Given the description of an element on the screen output the (x, y) to click on. 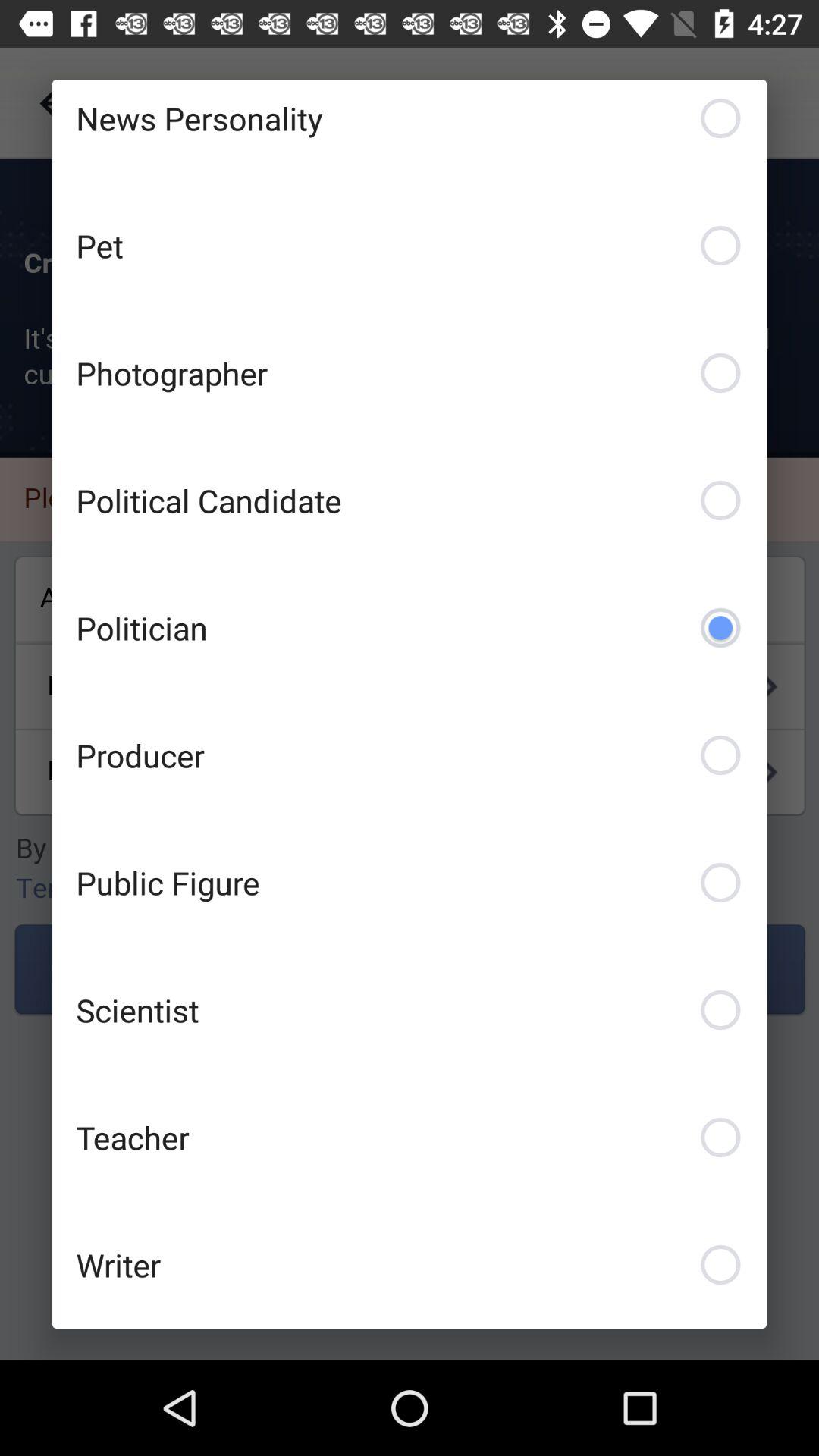
choose politician icon (409, 627)
